Given the description of an element on the screen output the (x, y) to click on. 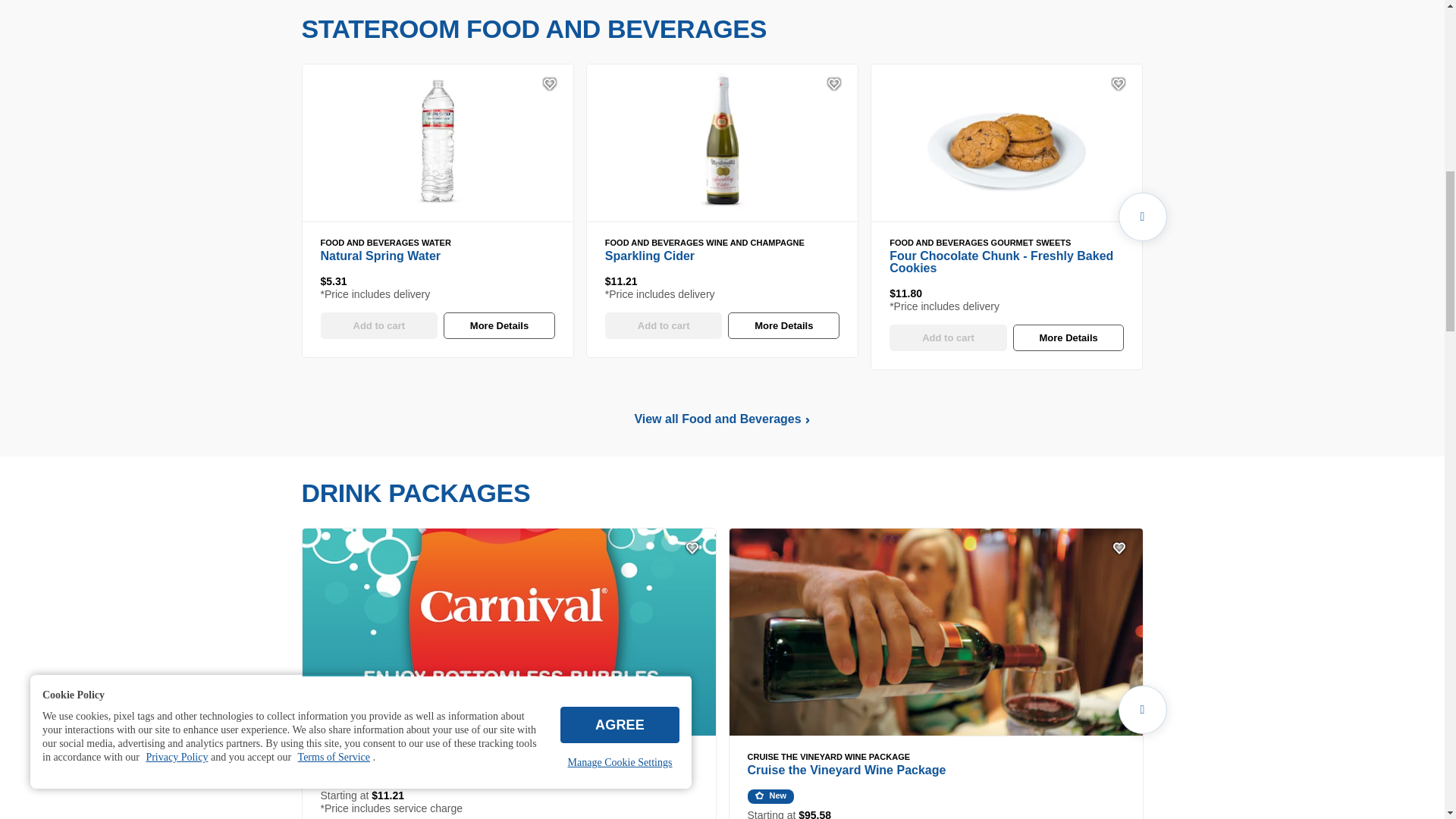
Sparkling Cider (721, 142)
Four Chocolate Chunk - Freshly Baked Cookies (1005, 142)
Bottomless Bubbles (507, 632)
Natural Spring Water (436, 142)
Cruise the Vineyard Wine Package (935, 632)
